Given the description of an element on the screen output the (x, y) to click on. 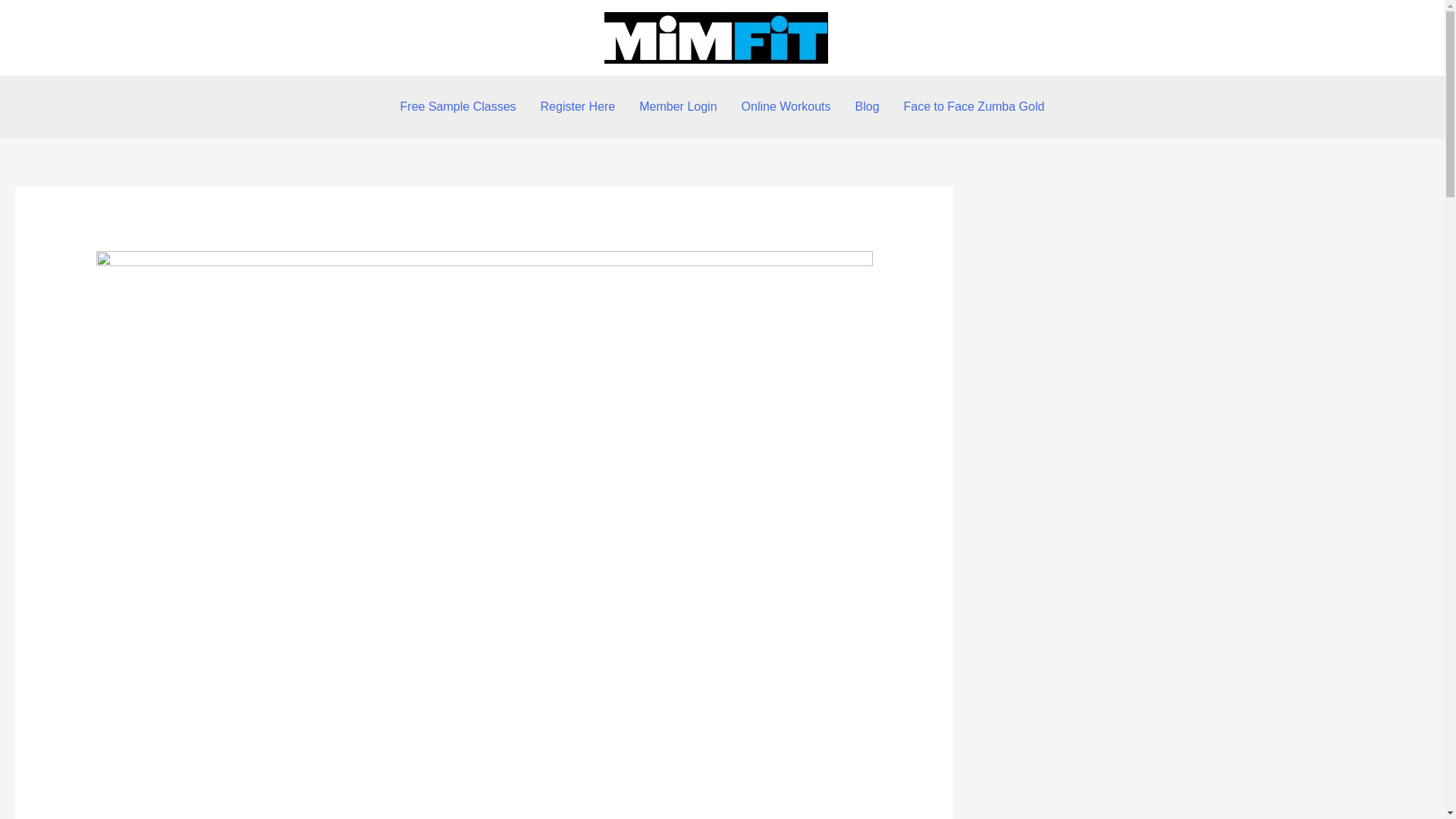
Face to Face Zumba Gold (974, 106)
Member Login (678, 106)
Free Sample Classes (458, 106)
Register Here (577, 106)
Login (70, 37)
Online Workouts (786, 106)
